Given the description of an element on the screen output the (x, y) to click on. 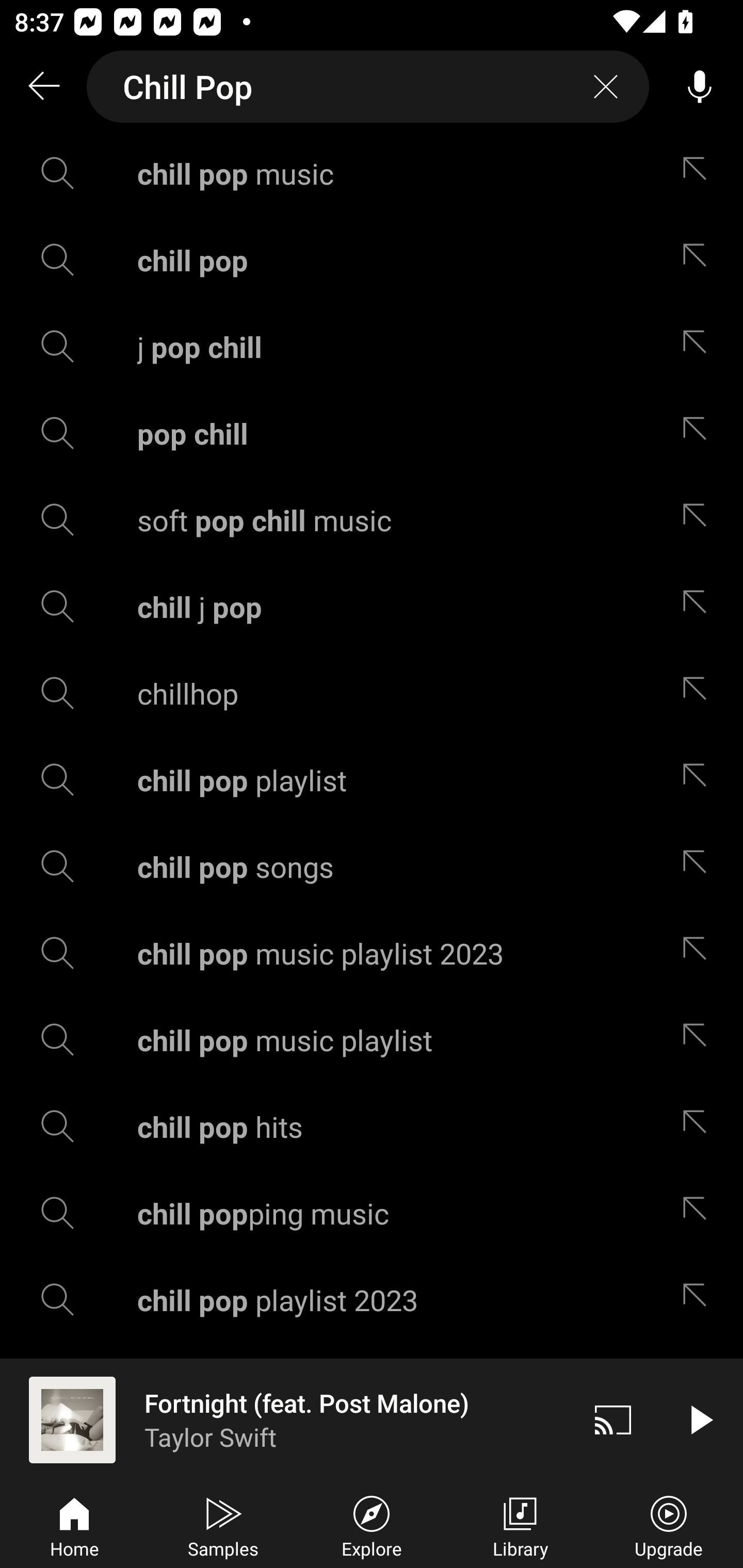
Search back (43, 86)
Chill Pop (367, 86)
Clear search (605, 86)
Voice search (699, 86)
chill pop music Edit suggestion chill pop music (371, 173)
Edit suggestion chill pop music (699, 173)
chill pop Edit suggestion chill pop (371, 259)
Edit suggestion chill pop (699, 259)
j pop chill Edit suggestion j pop chill (371, 346)
Edit suggestion j pop chill (699, 346)
pop chill Edit suggestion pop chill (371, 433)
Edit suggestion pop chill (699, 433)
Edit suggestion soft pop chill music (699, 519)
chill j pop Edit suggestion chill j pop (371, 605)
Edit suggestion chill j pop (699, 605)
chillhop Edit suggestion chillhop (371, 692)
Edit suggestion chillhop (699, 692)
Edit suggestion chill pop playlist (699, 779)
chill pop songs Edit suggestion chill pop songs (371, 866)
Edit suggestion chill pop songs (699, 866)
Edit suggestion chill pop music playlist 2023 (699, 953)
Edit suggestion chill pop music playlist (699, 1040)
chill pop hits Edit suggestion chill pop hits (371, 1126)
Edit suggestion chill pop hits (699, 1126)
Edit suggestion chill popping music (699, 1212)
Edit suggestion chill pop playlist 2023 (699, 1299)
Fortnight (feat. Post Malone) Taylor Swift (284, 1419)
Cast. Disconnected (612, 1419)
Play video (699, 1419)
Home (74, 1524)
Samples (222, 1524)
Explore (371, 1524)
Library (519, 1524)
Upgrade (668, 1524)
